Given the description of an element on the screen output the (x, y) to click on. 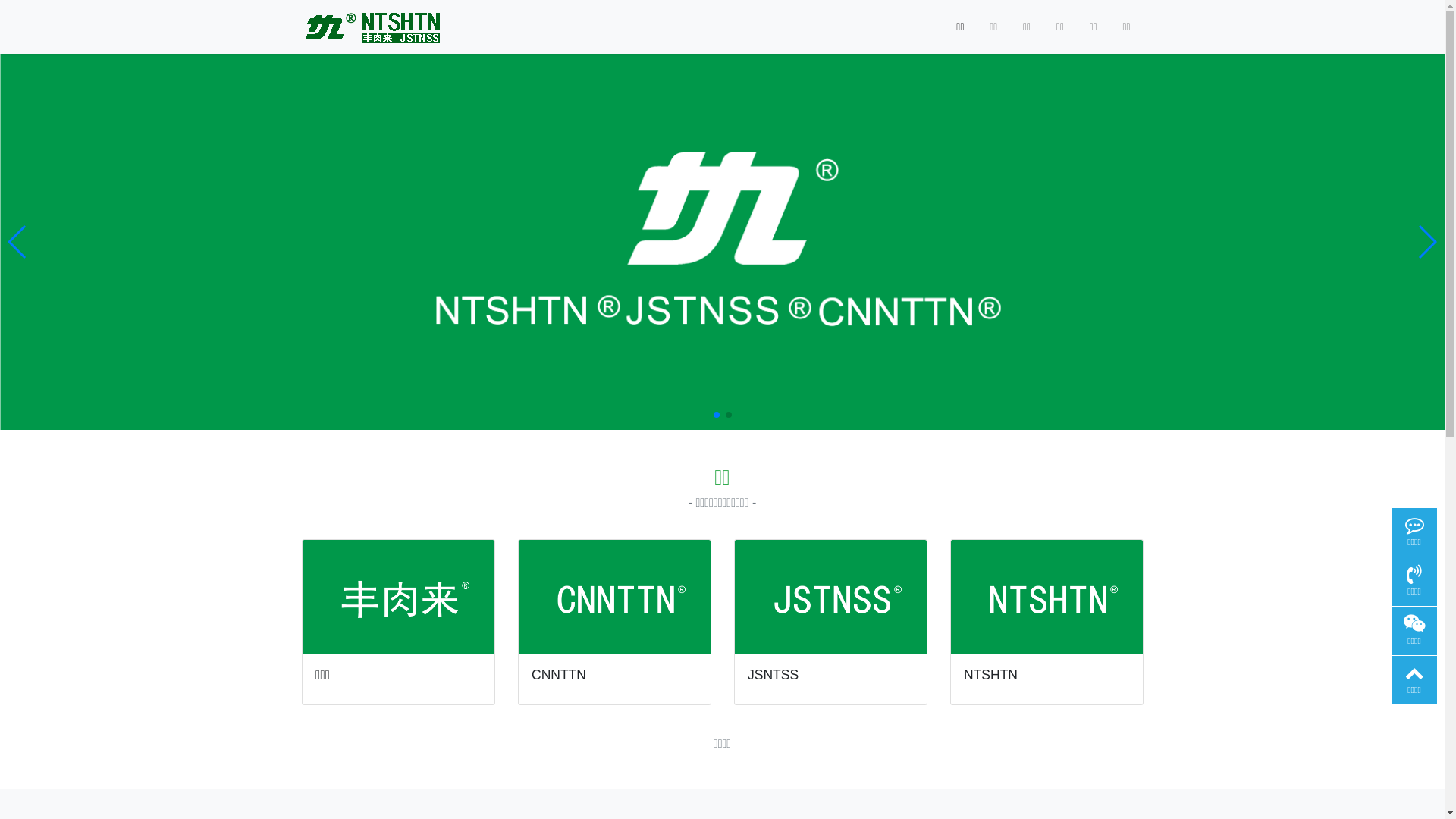
NTSHTN Element type: text (990, 674)
CNNTTN Element type: text (558, 674)
JSNTSS Element type: text (772, 674)
